Given the description of an element on the screen output the (x, y) to click on. 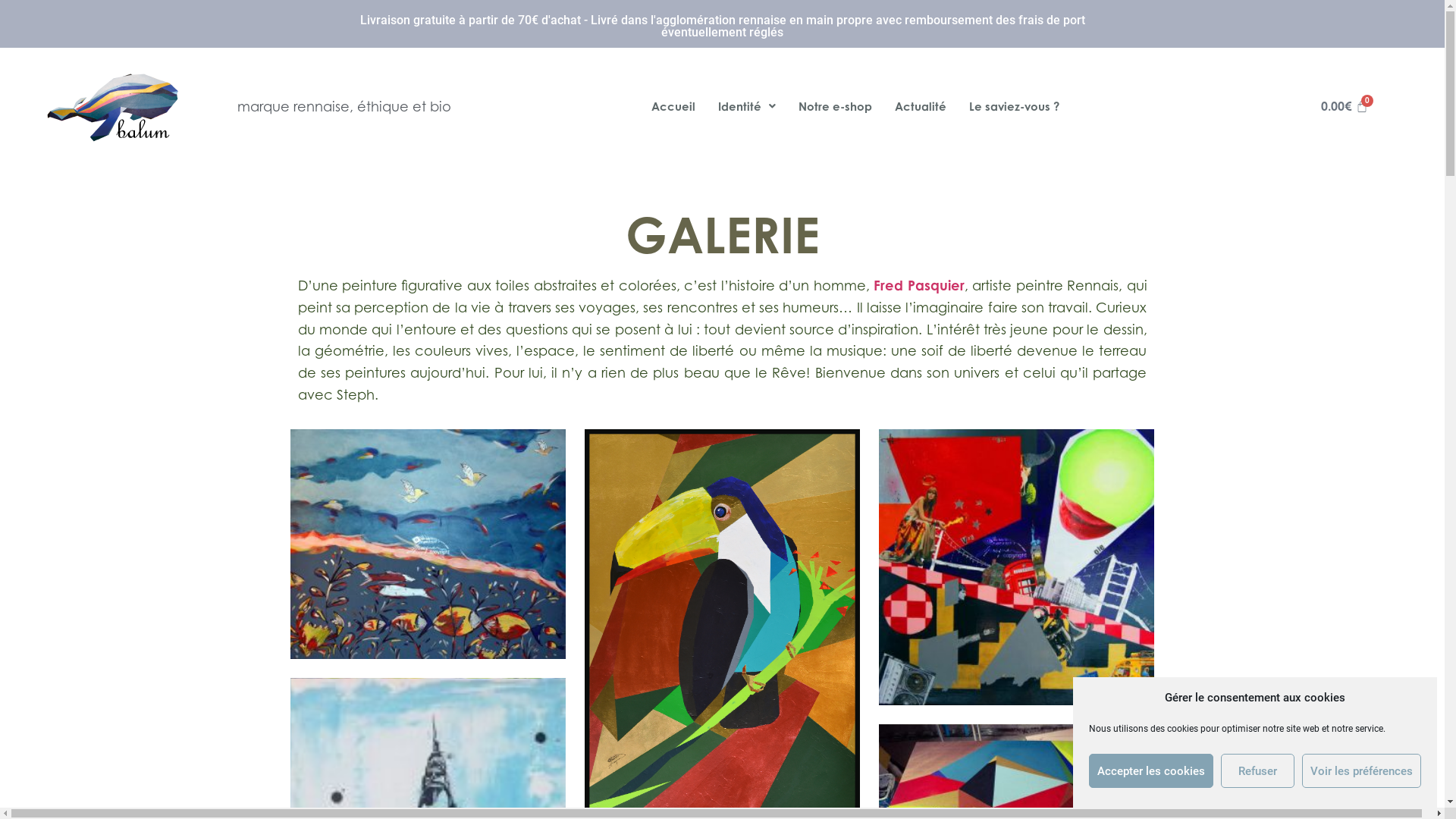
Accueil Element type: text (673, 106)
Le saviez-vous ? Element type: text (1013, 106)
Fred Pasquier Element type: text (918, 284)
Refuser Element type: text (1257, 770)
Accepter les cookies Element type: text (1150, 770)
Notre e-shop Element type: text (835, 106)
